Given the description of an element on the screen output the (x, y) to click on. 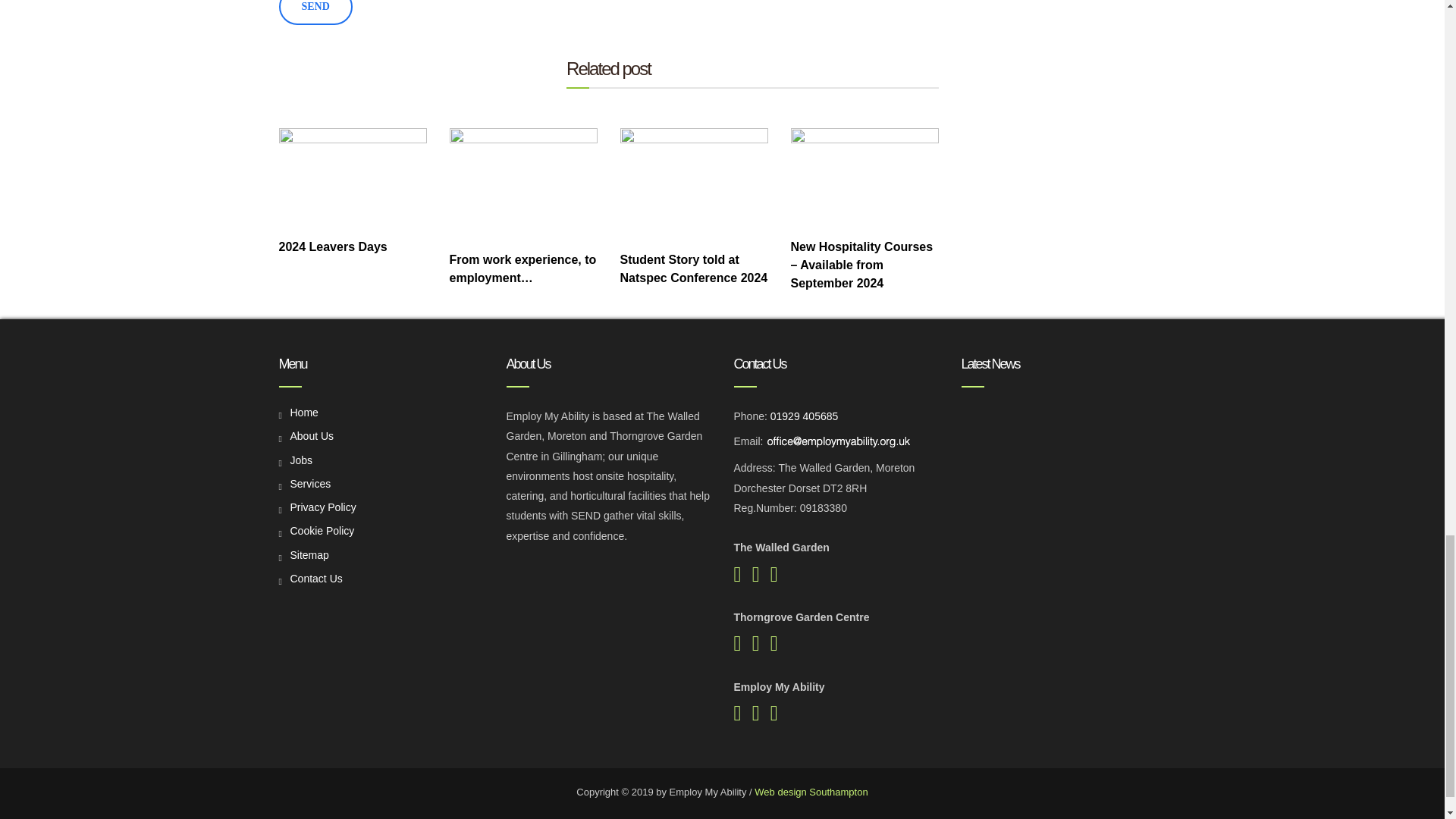
Send (315, 12)
Student Story told at Natspec Conference 2024 (694, 183)
2024 Leavers Days (352, 176)
